Given the description of an element on the screen output the (x, y) to click on. 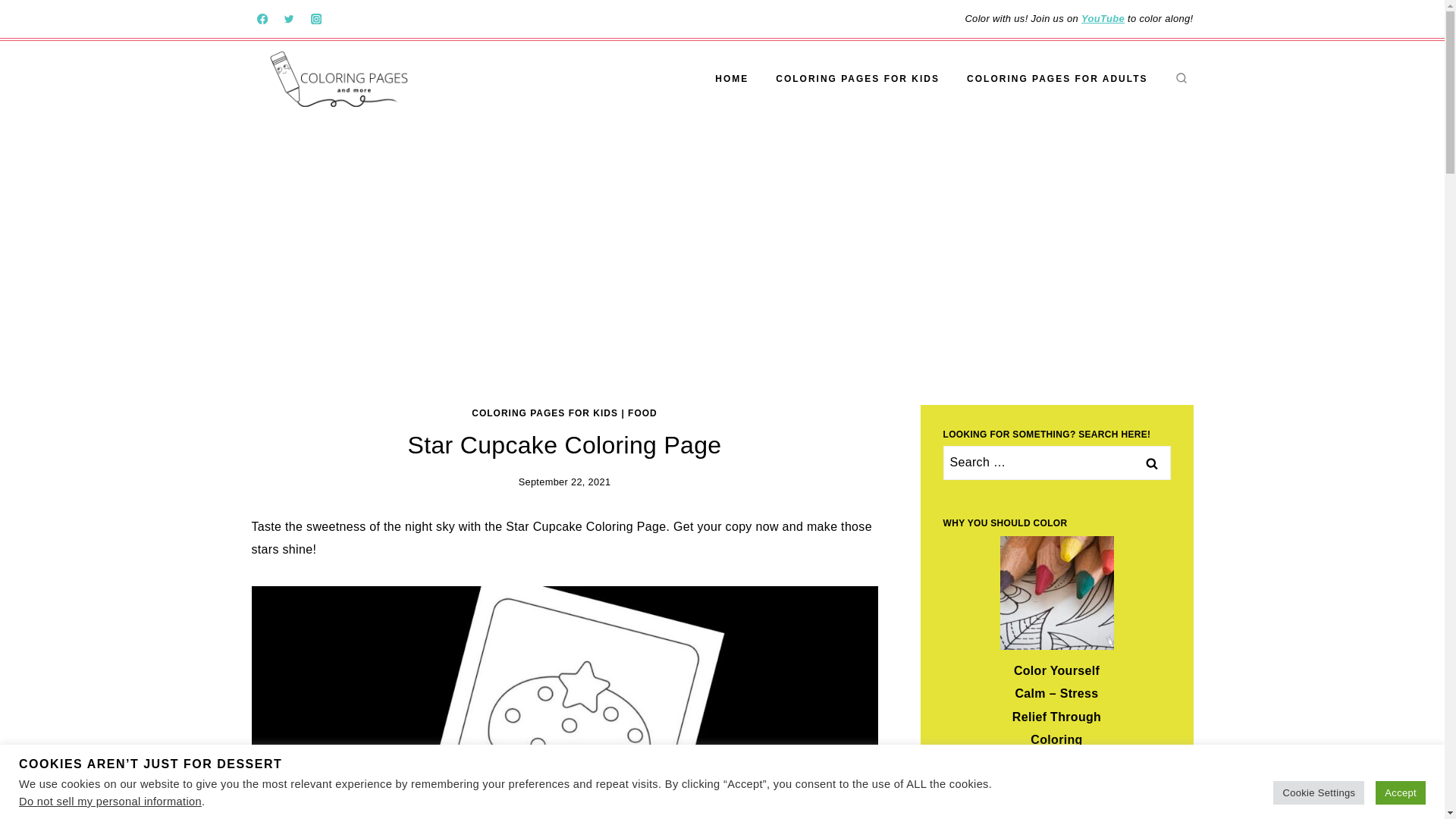
Search (1151, 462)
Search (1151, 462)
YouTube (1102, 18)
COLORING PAGES FOR KIDS (544, 412)
FOOD (642, 412)
COLORING PAGES FOR KIDS (857, 79)
COLORING PAGES FOR ADULTS (1056, 79)
HOME (731, 79)
